Given the description of an element on the screen output the (x, y) to click on. 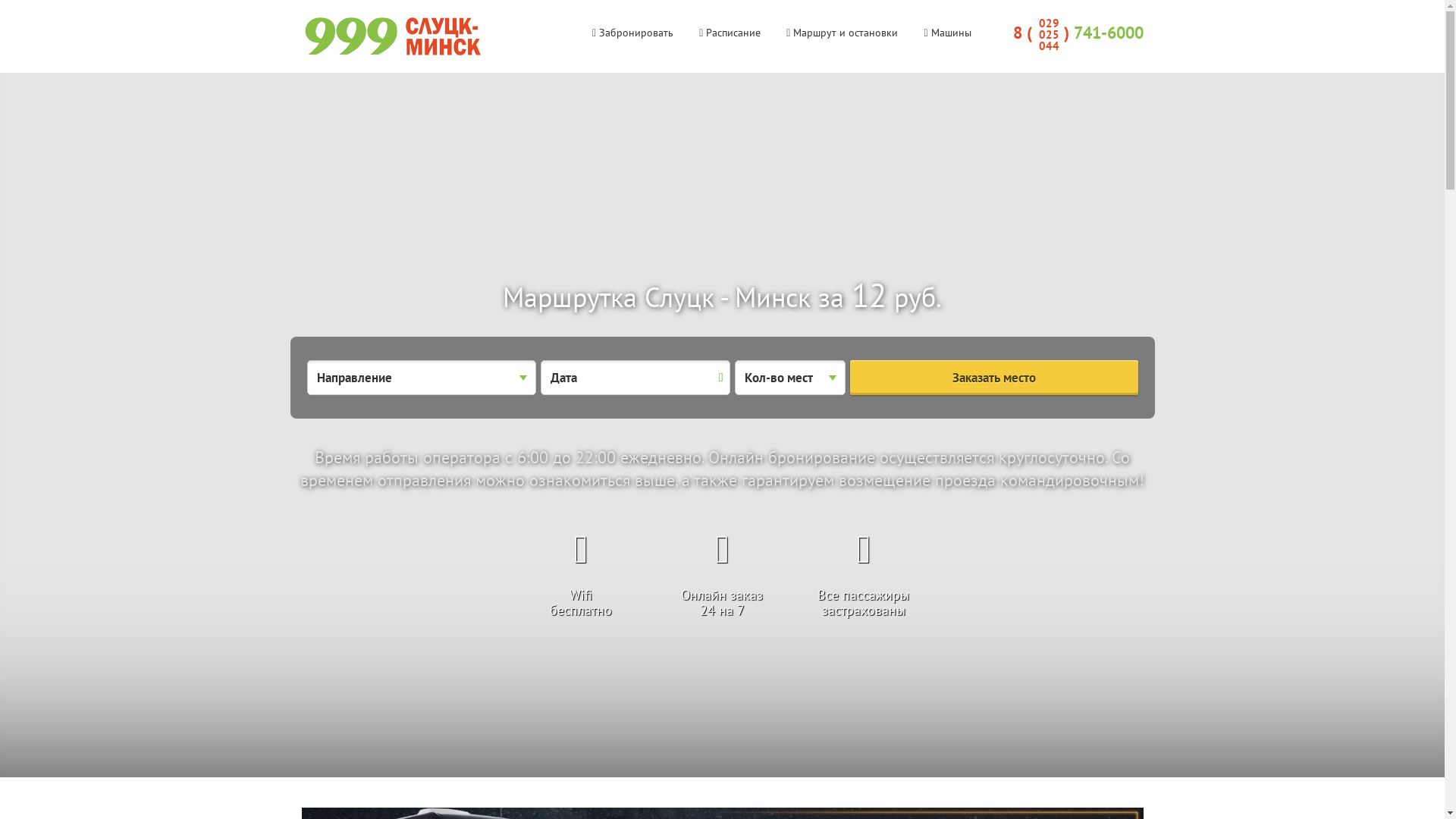
741-6000 Element type: text (1108, 32)
